Given the description of an element on the screen output the (x, y) to click on. 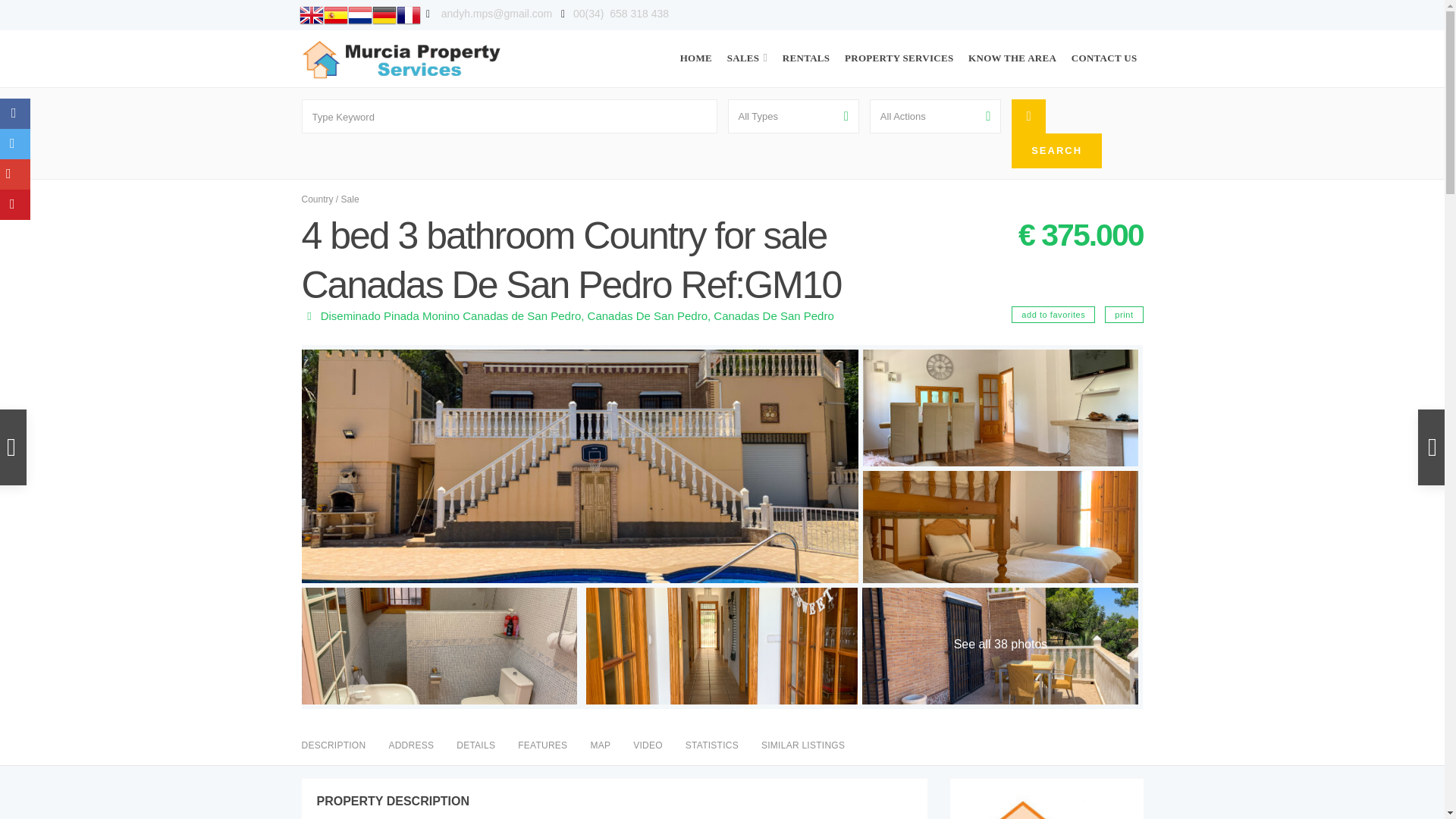
CONTACT US (1103, 47)
RENTALS (805, 47)
PROPERTY SERVICES (898, 47)
KNOW THE AREA (1012, 47)
SALES (746, 47)
SEARCH (1056, 150)
HOME (695, 47)
